Given the description of an element on the screen output the (x, y) to click on. 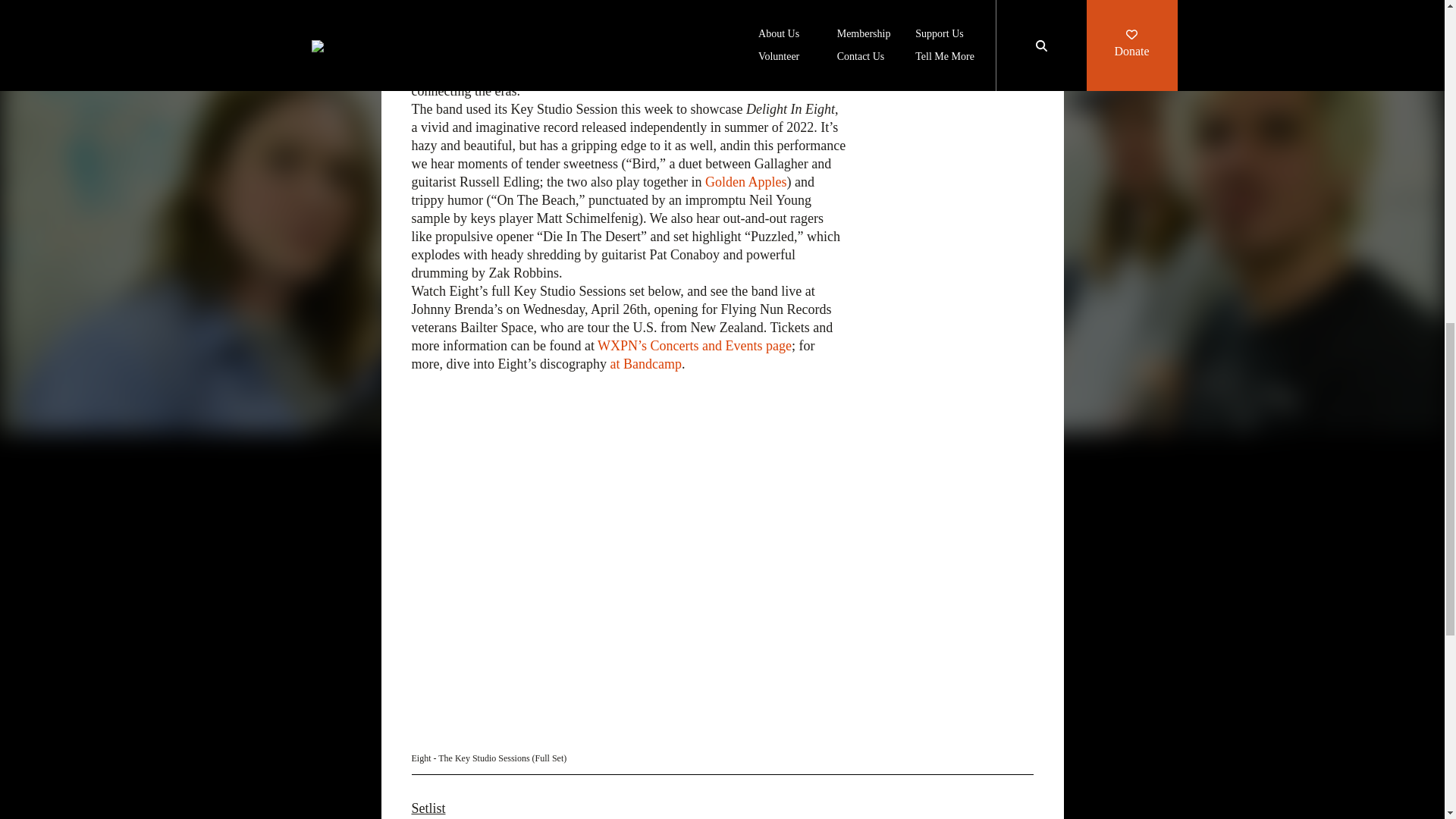
Golden Apples (745, 181)
their last appearance in WXPN studios (550, 3)
at Bandcamp (645, 363)
